Given the description of an element on the screen output the (x, y) to click on. 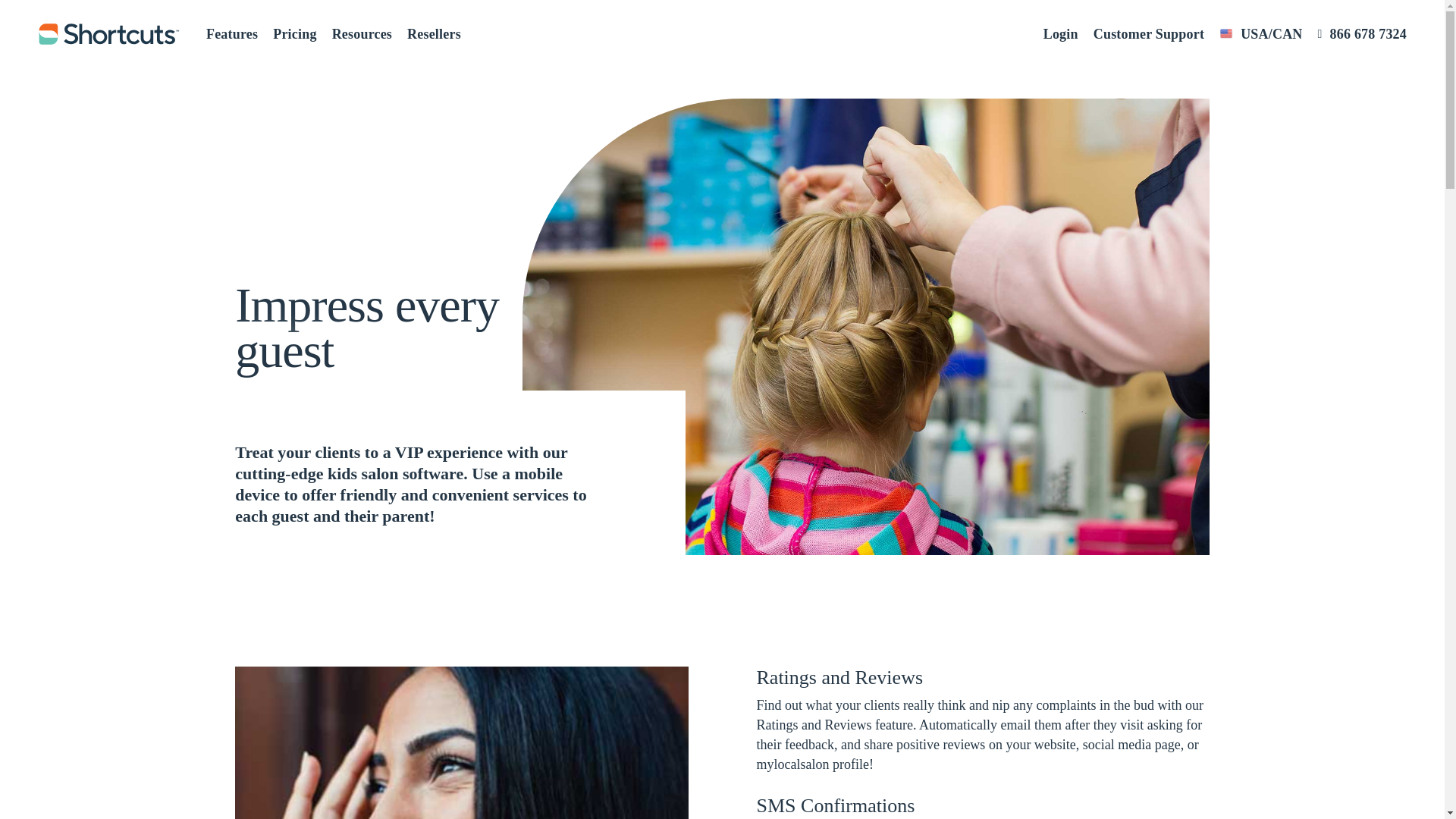
866 678 7324 (1361, 33)
Pricing (294, 33)
Resellers (434, 33)
Features (231, 33)
Customer Support (1148, 33)
Menu (1415, 7)
Login (1060, 33)
Resources (361, 33)
